Given the description of an element on the screen output the (x, y) to click on. 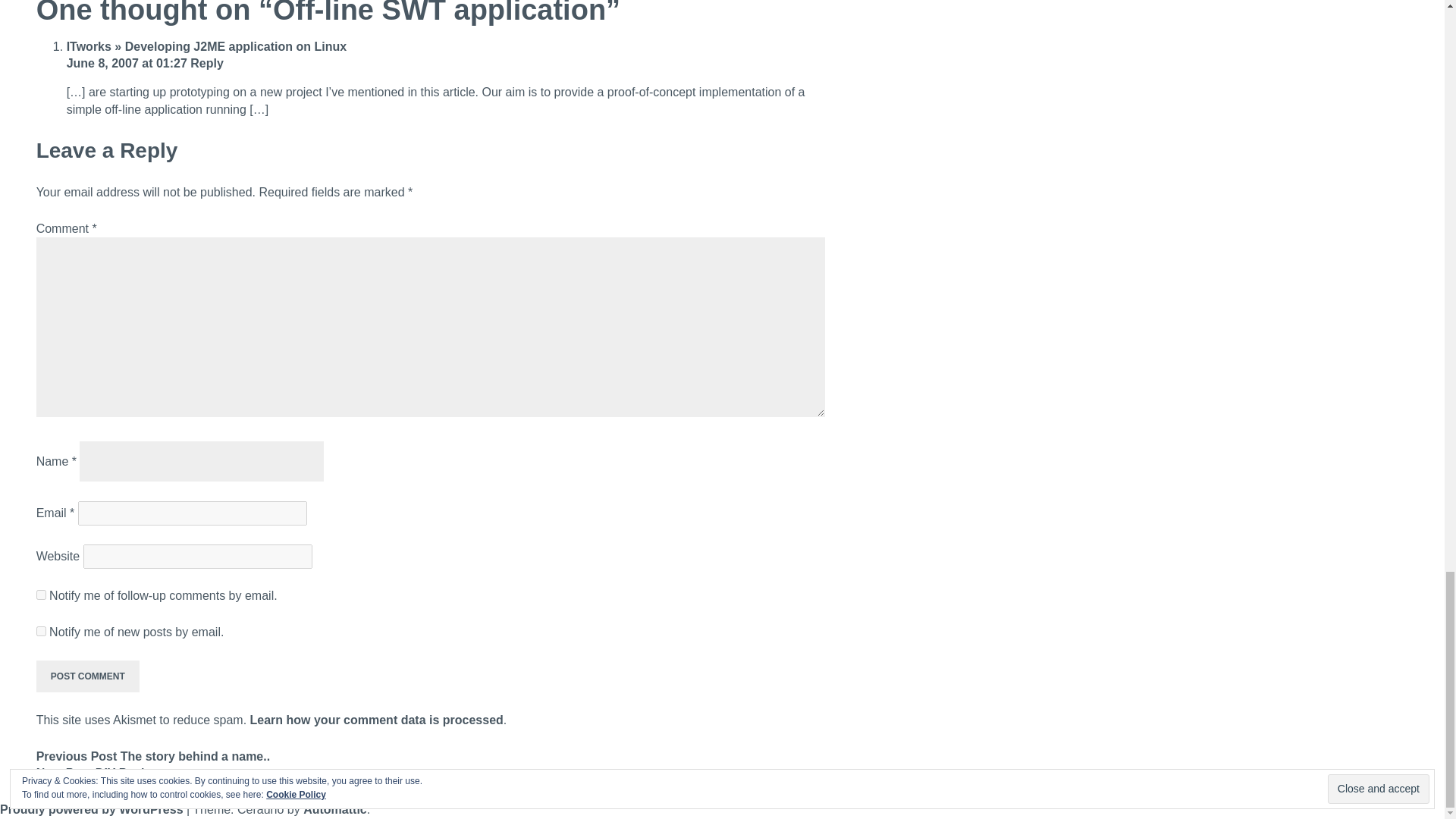
Post Comment (87, 676)
subscribe (41, 594)
subscribe (41, 631)
